Given the description of an element on the screen output the (x, y) to click on. 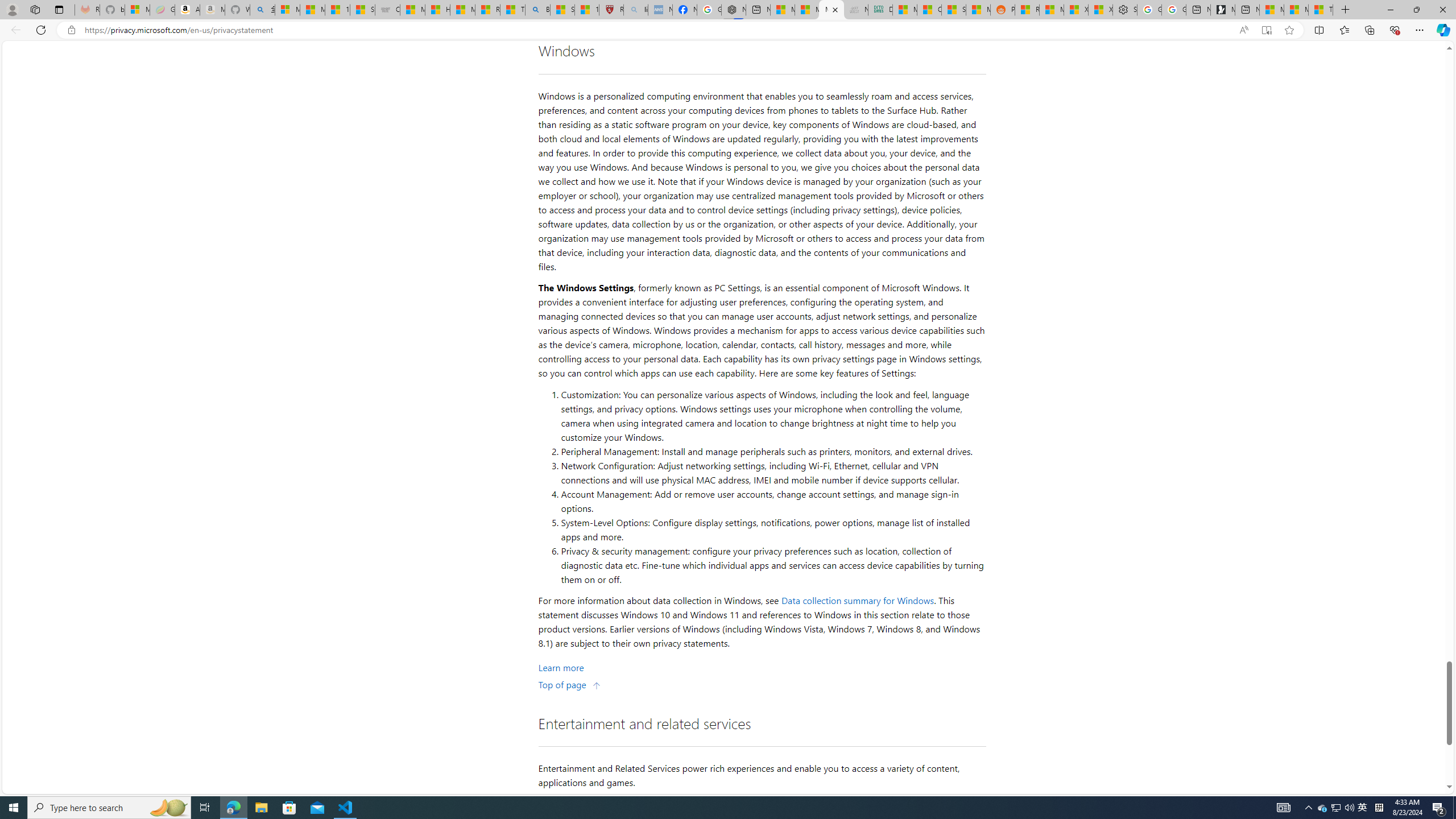
These 3 Stocks Pay You More Than 5% to Own Them (1320, 9)
MSNBC - MSN (904, 9)
list of asthma inhalers uk - Search - Sleeping (635, 9)
Data collection summary for Windows (857, 600)
Robert H. Shmerling, MD - Harvard Health (611, 9)
Stocks - MSN (953, 9)
DITOGAMES AG Imprint (879, 9)
Science - MSN (562, 9)
